Given the description of an element on the screen output the (x, y) to click on. 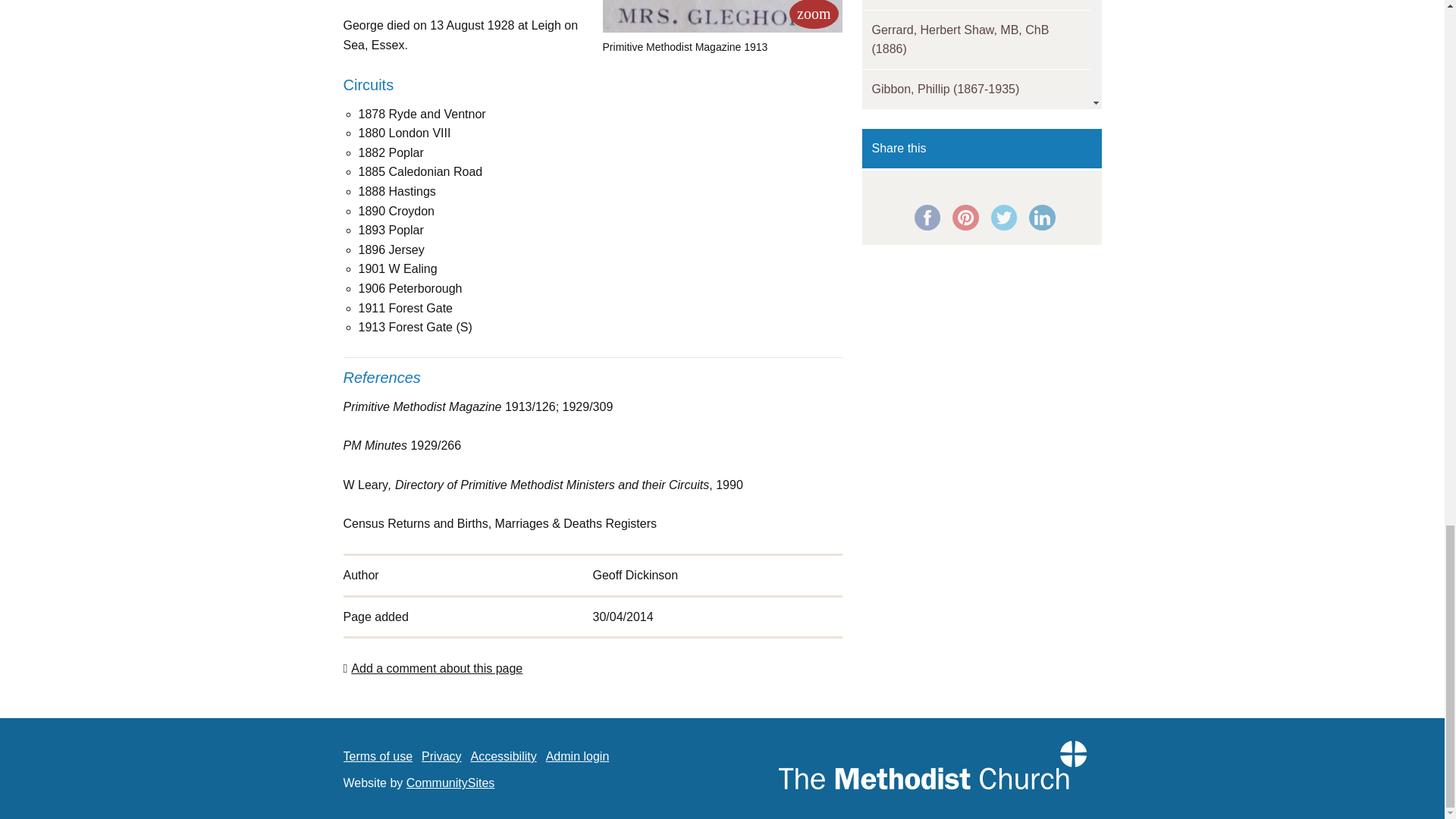
Primitive Methodist Magazine 1913 (722, 16)
zoom (813, 14)
Primitive Methodist Magazine 1913 (813, 14)
